Given the description of an element on the screen output the (x, y) to click on. 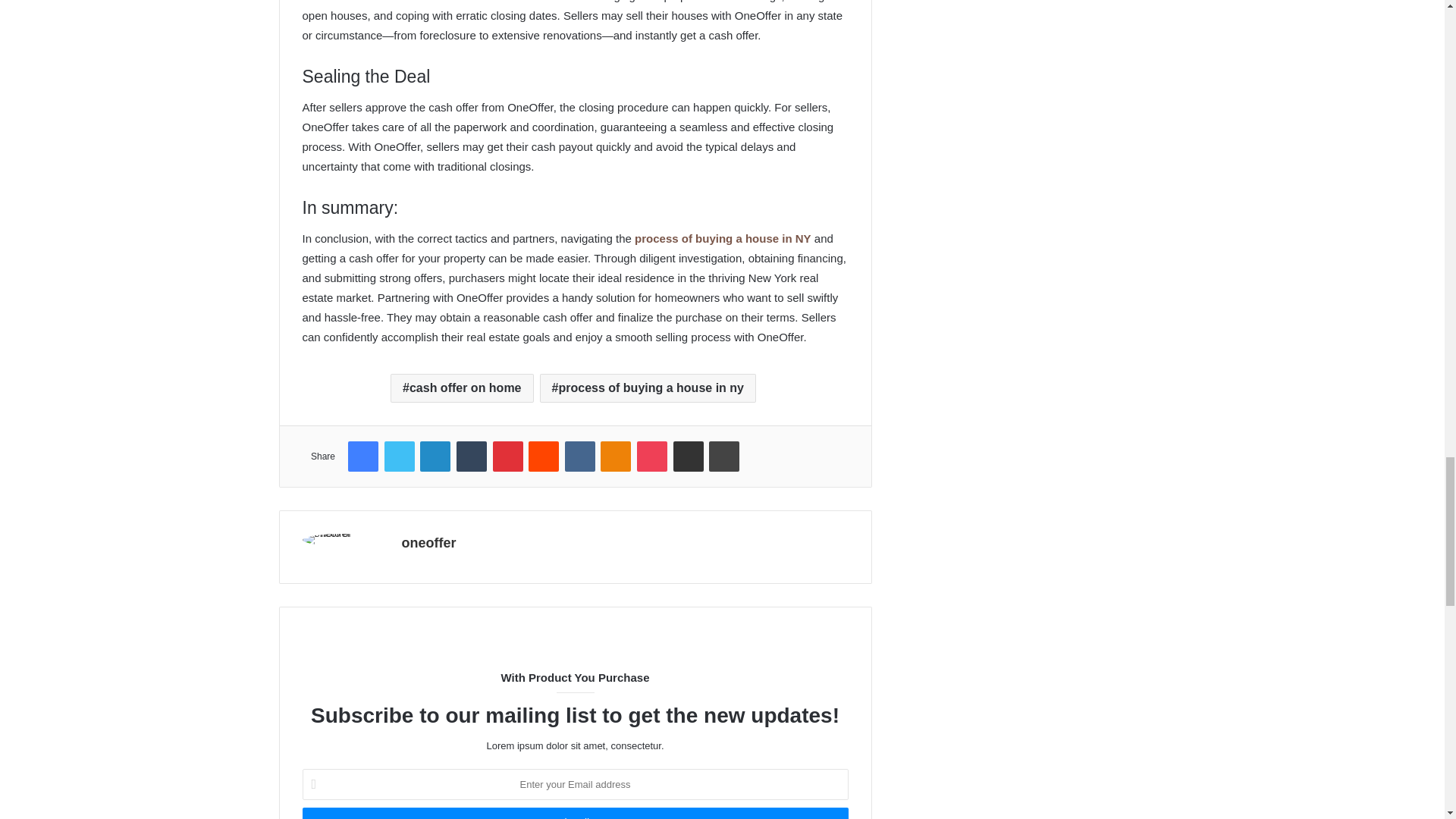
Subscribe (574, 813)
